Given the description of an element on the screen output the (x, y) to click on. 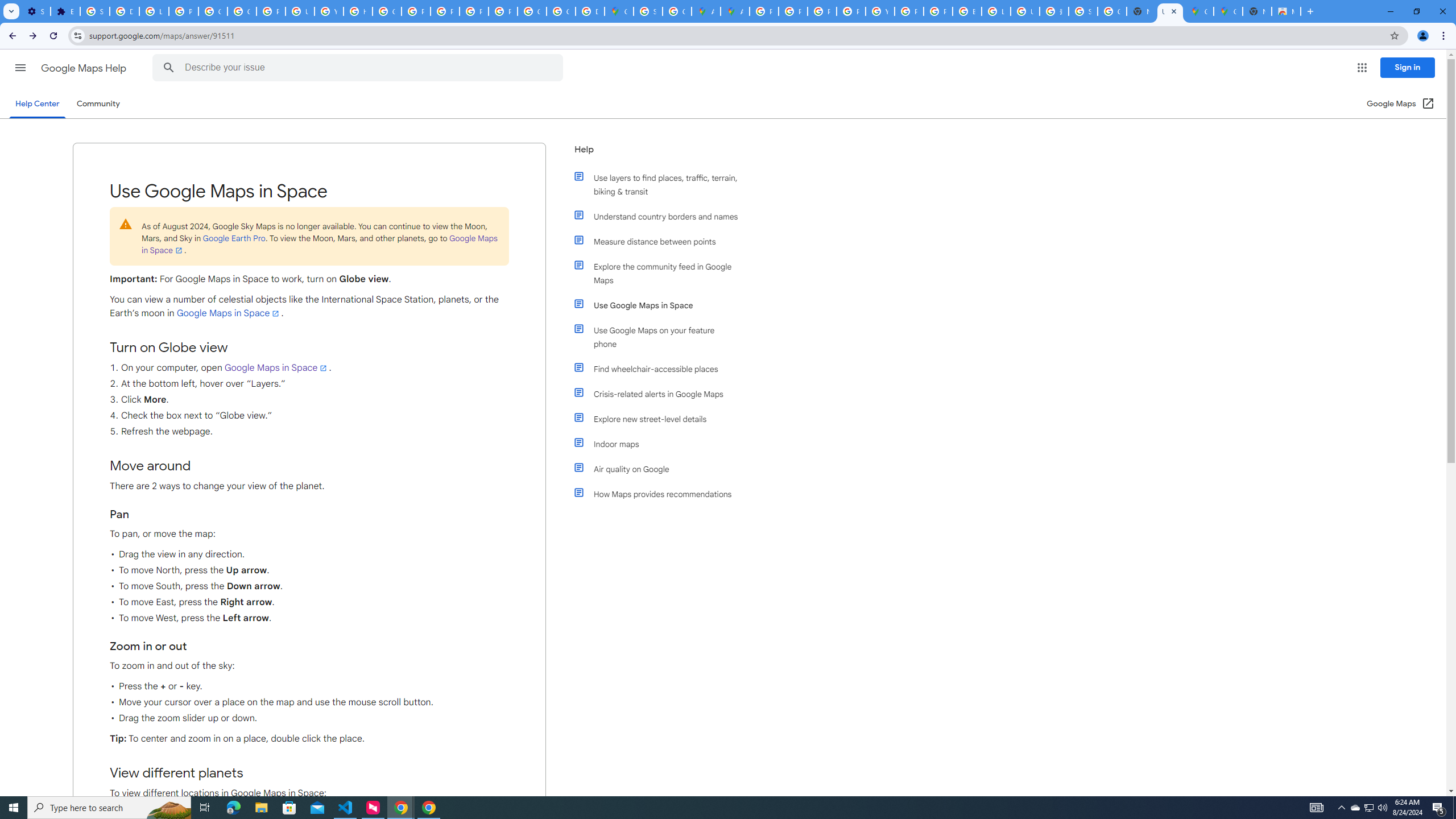
Sign in - Google Accounts (95, 11)
Google Maps (1198, 11)
Explore new street-level details (661, 419)
Understand country borders and names (661, 216)
Search Help Center (168, 67)
Measure distance between points (661, 241)
Google Maps (619, 11)
Help Center (36, 103)
